Given the description of an element on the screen output the (x, y) to click on. 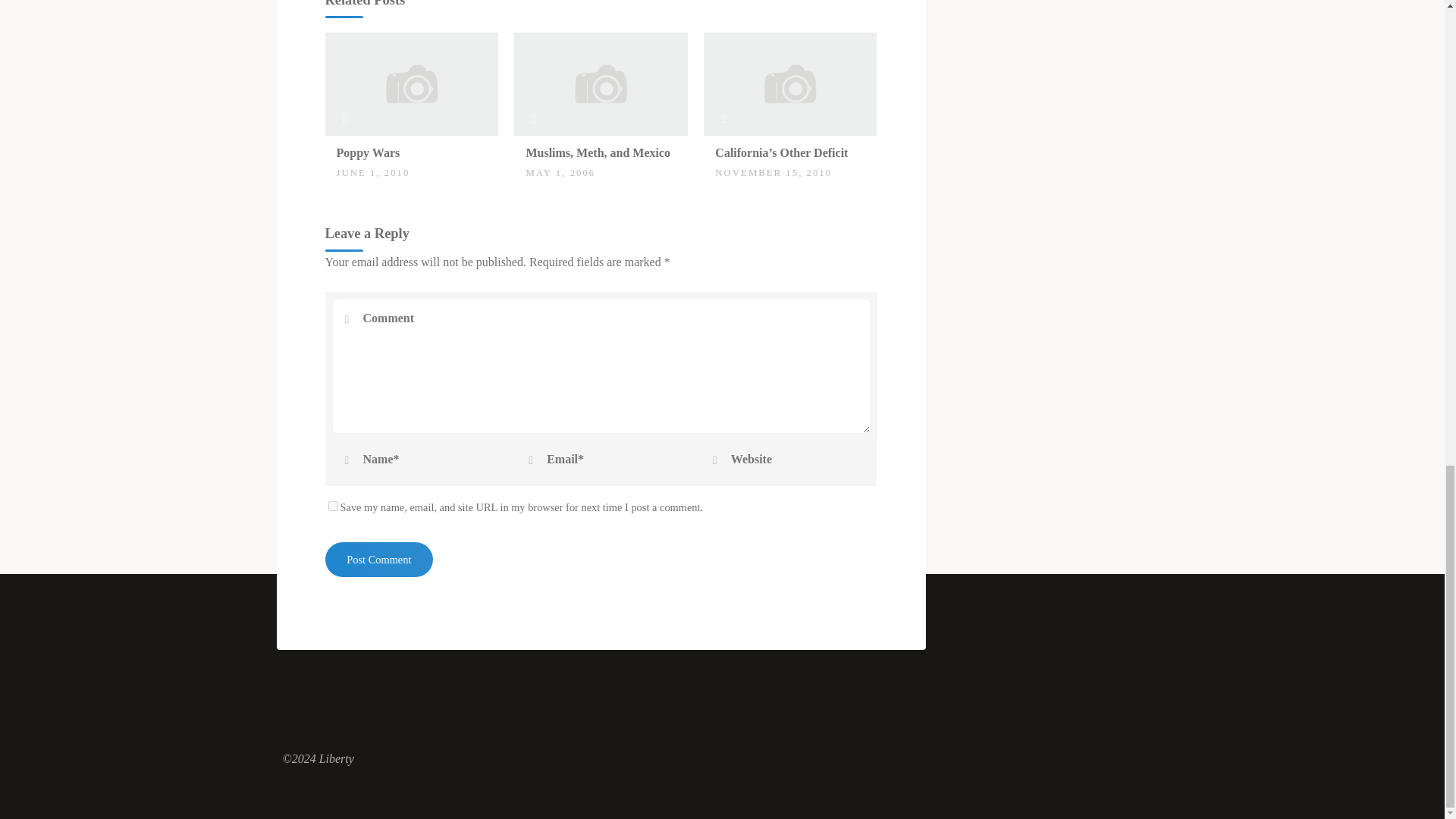
Poppy Wars (368, 152)
yes (332, 506)
Post Comment (378, 559)
0 (344, 145)
Poppy Wars (410, 82)
Poppy Wars (368, 152)
